Given the description of an element on the screen output the (x, y) to click on. 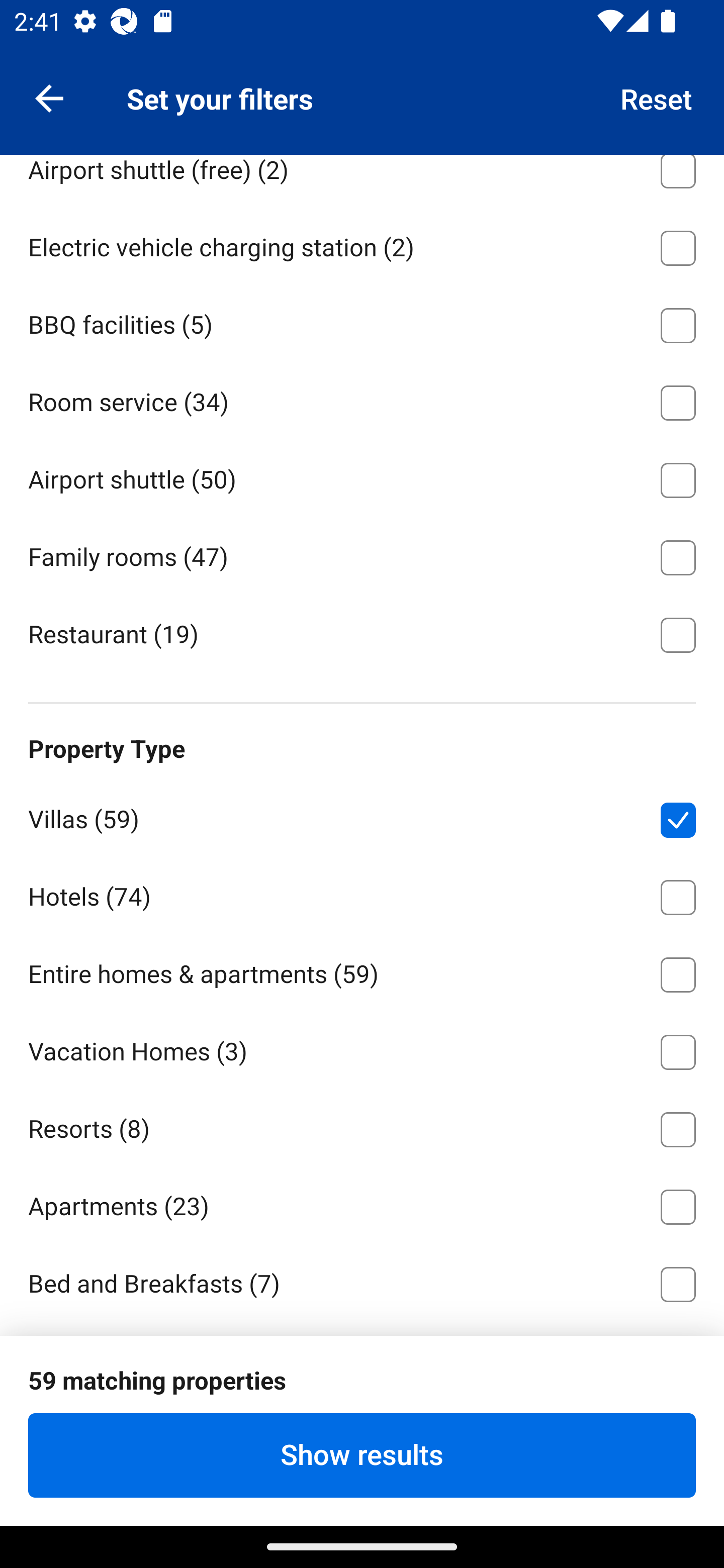
Navigate up (49, 97)
Free parking ⁦(46) (361, 89)
Reset (656, 97)
Airport shuttle (free) ⁦(2) (361, 180)
Electric vehicle charging station ⁦(2) (361, 244)
BBQ facilities ⁦(5) (361, 321)
Room service ⁦(34) (361, 398)
Airport shuttle ⁦(50) (361, 476)
Family rooms ⁦(47) (361, 553)
Restaurant ⁦(19) (361, 633)
Villas ⁦(59) (361, 816)
Hotels ⁦(74) (361, 894)
Entire homes & apartments ⁦(59) (361, 970)
Vacation Homes ⁦(3) (361, 1048)
Resorts ⁦(8) (361, 1126)
Apartments ⁦(23) (361, 1203)
Bed and Breakfasts ⁦(7) (361, 1282)
Show results (361, 1454)
